Given the description of an element on the screen output the (x, y) to click on. 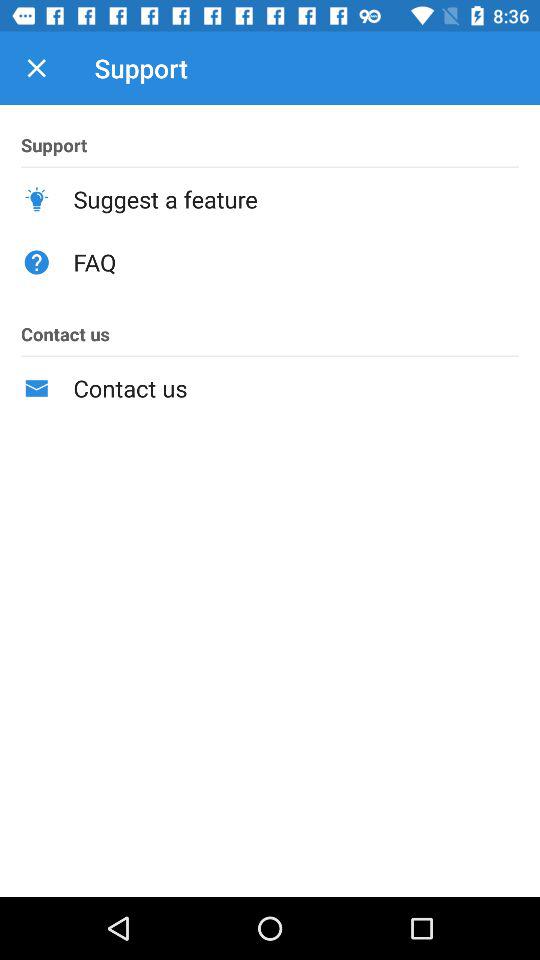
scroll to suggest a feature (296, 199)
